Given the description of an element on the screen output the (x, y) to click on. 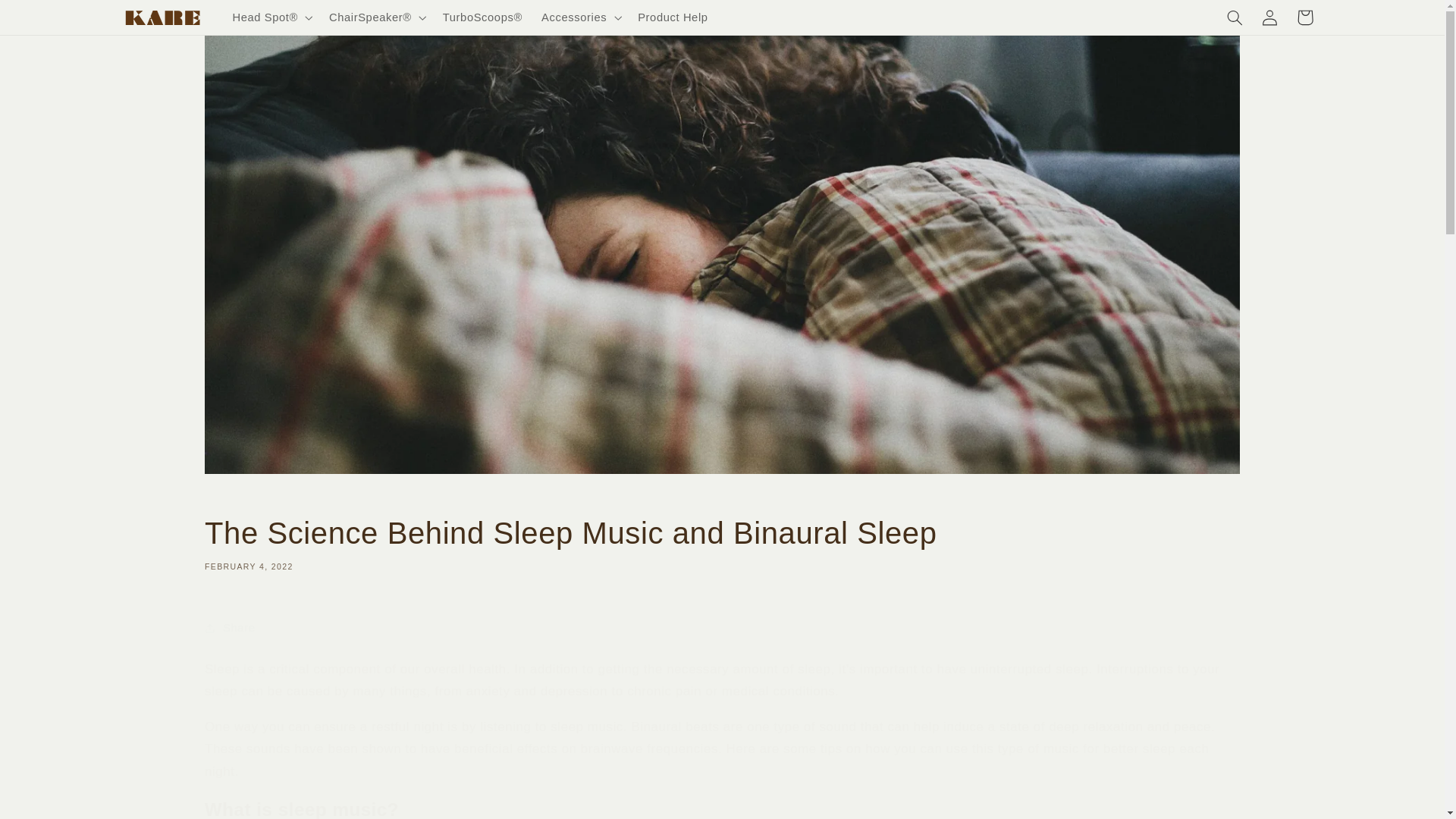
Share (722, 628)
Skip to content (48, 18)
